Given the description of an element on the screen output the (x, y) to click on. 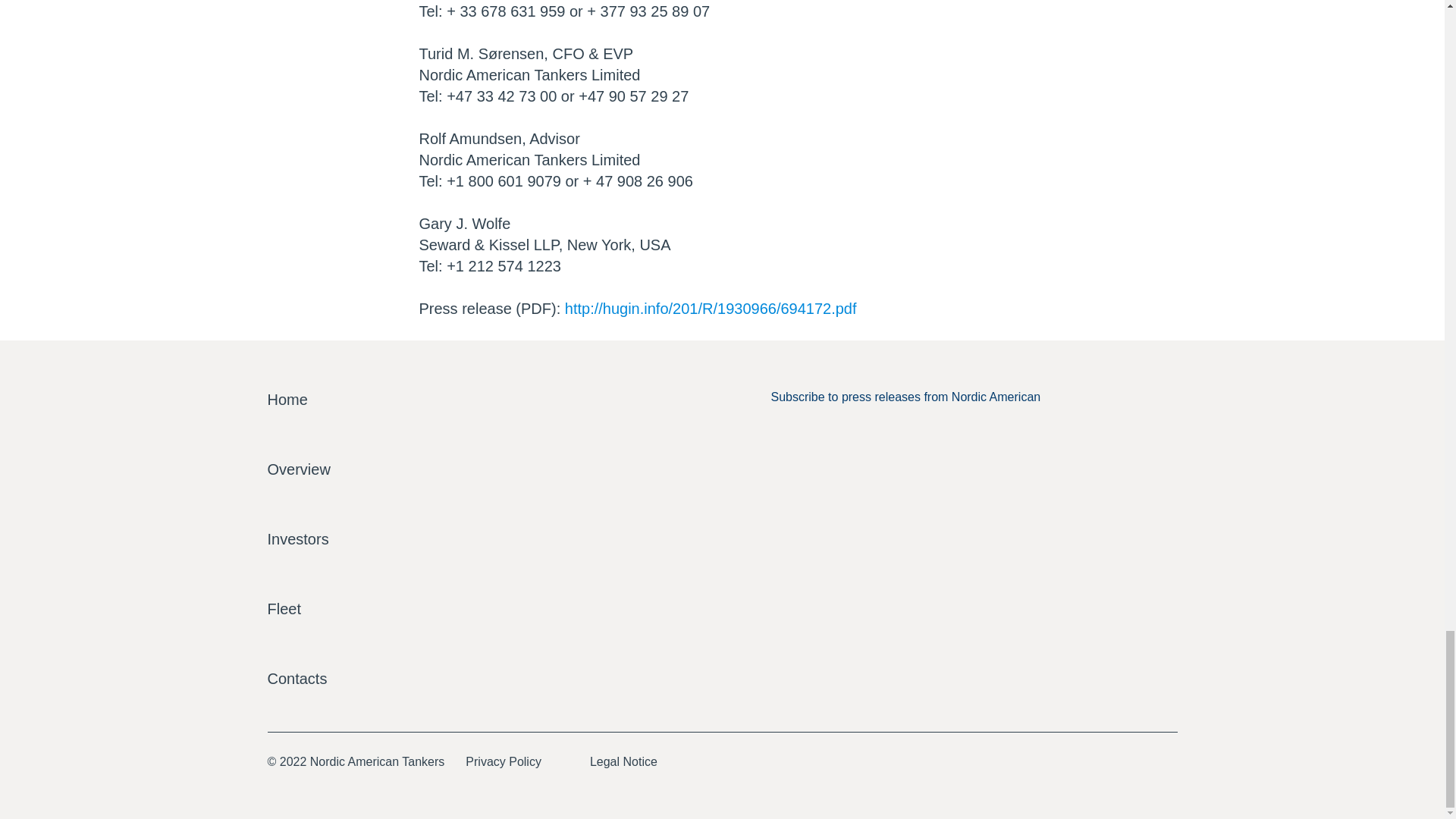
Home (286, 399)
Overview (298, 468)
